Given the description of an element on the screen output the (x, y) to click on. 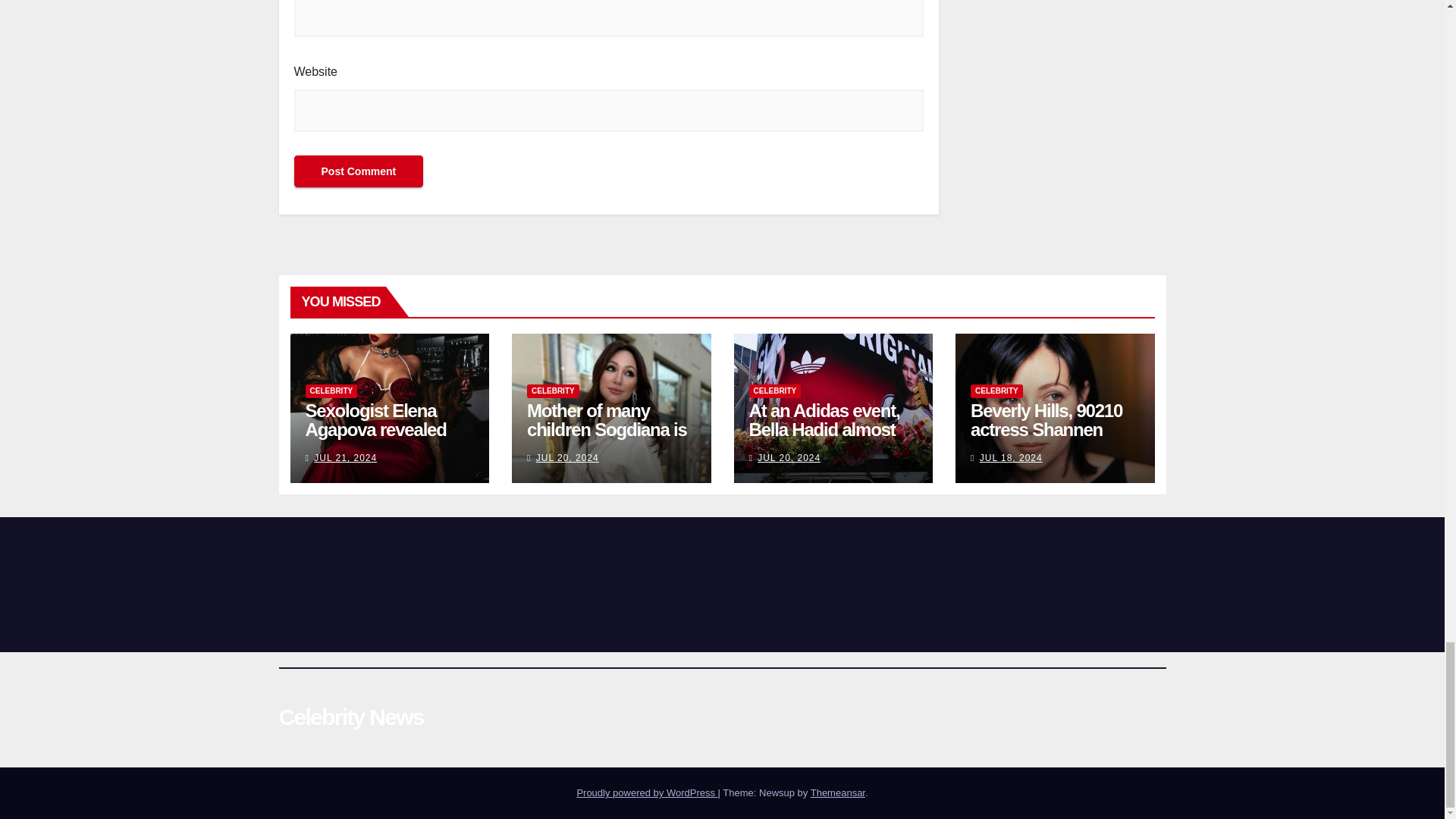
Post Comment (358, 171)
CELEBRITY (330, 391)
JUL 21, 2024 (345, 457)
Post Comment (358, 171)
CELEBRITY (553, 391)
